Given the description of an element on the screen output the (x, y) to click on. 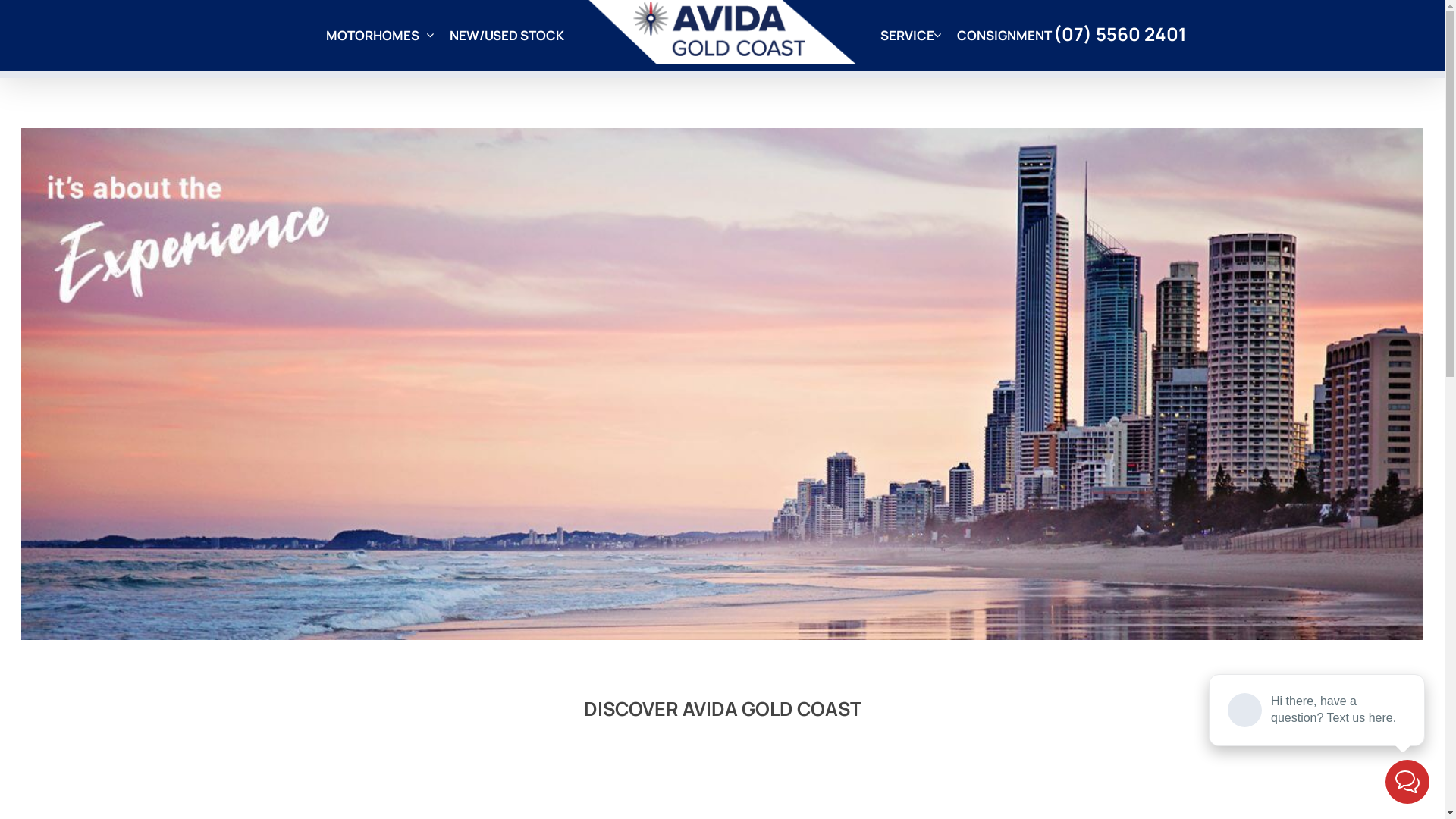
MOTORHOMES Element type: text (380, 35)
NEW/USED STOCK Element type: text (505, 35)
SERVICE Element type: text (910, 35)
CONSIGNMENT Element type: text (1004, 35)
(07) 5560 2401 Element type: text (1119, 34)
